Given the description of an element on the screen output the (x, y) to click on. 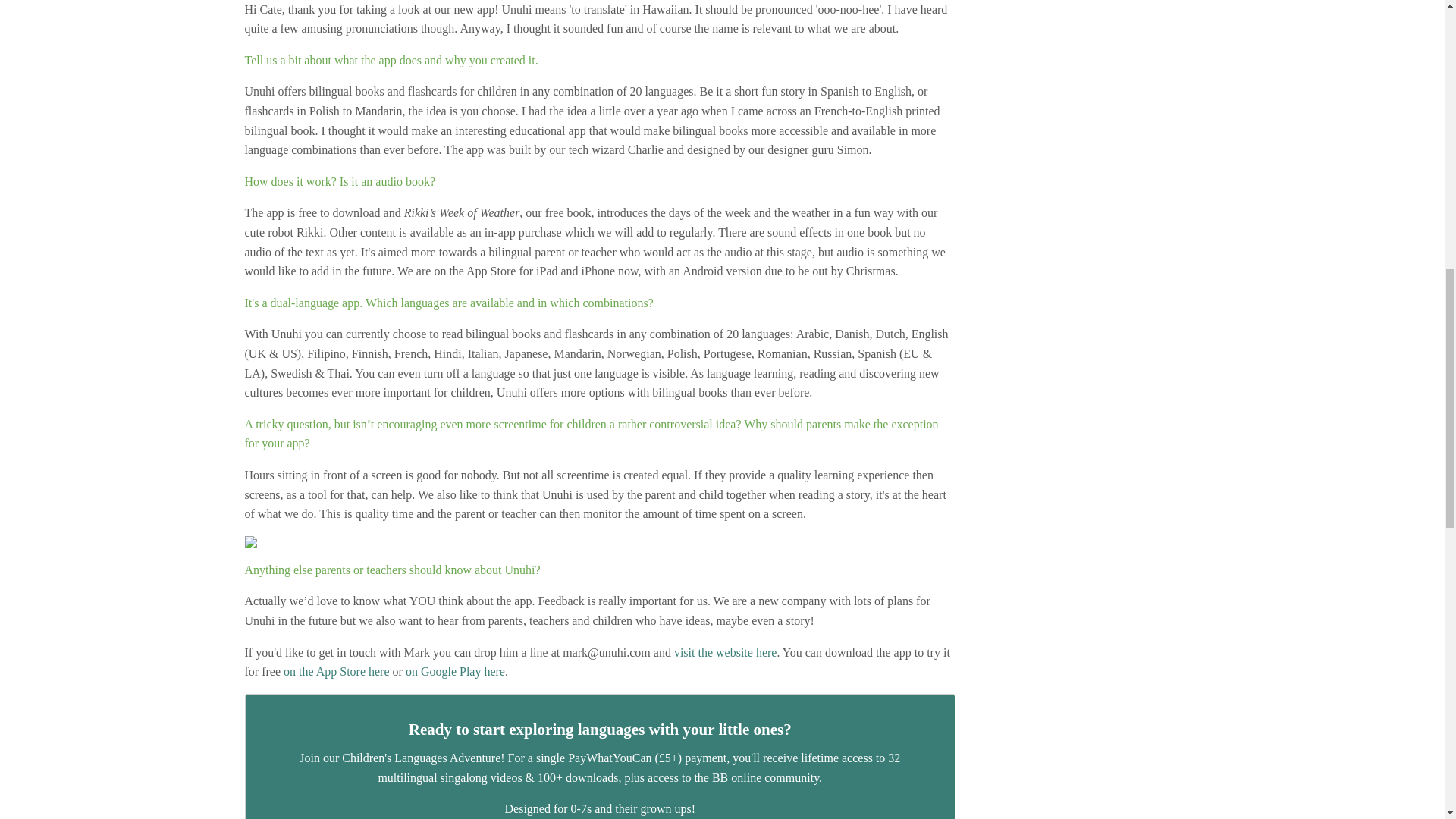
on the App Store here (336, 671)
on Google Play here (455, 671)
visit the website here (725, 652)
